Given the description of an element on the screen output the (x, y) to click on. 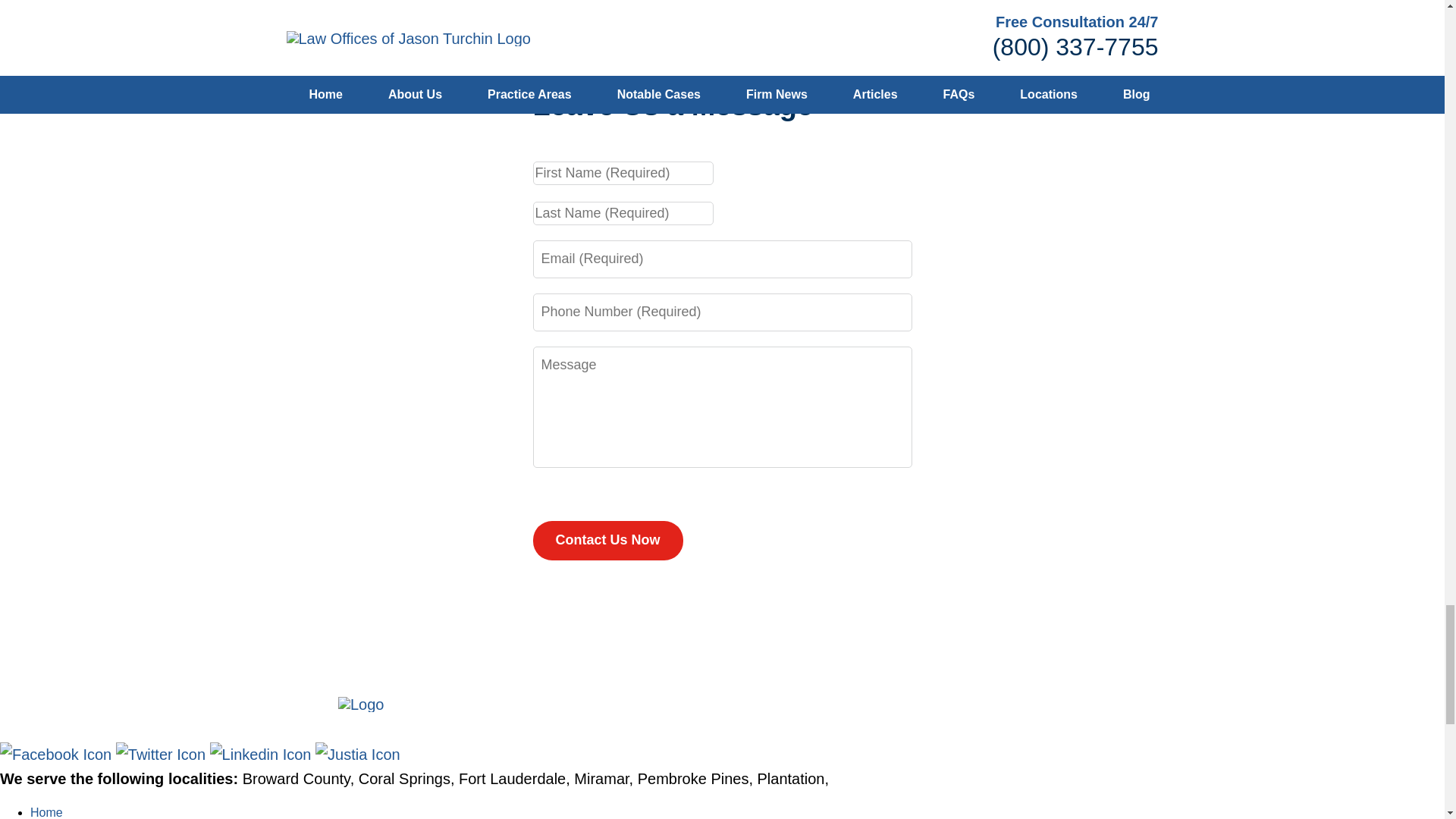
Linkedin (262, 754)
Twitter (162, 754)
Facebook (58, 754)
Justia (357, 754)
